Given the description of an element on the screen output the (x, y) to click on. 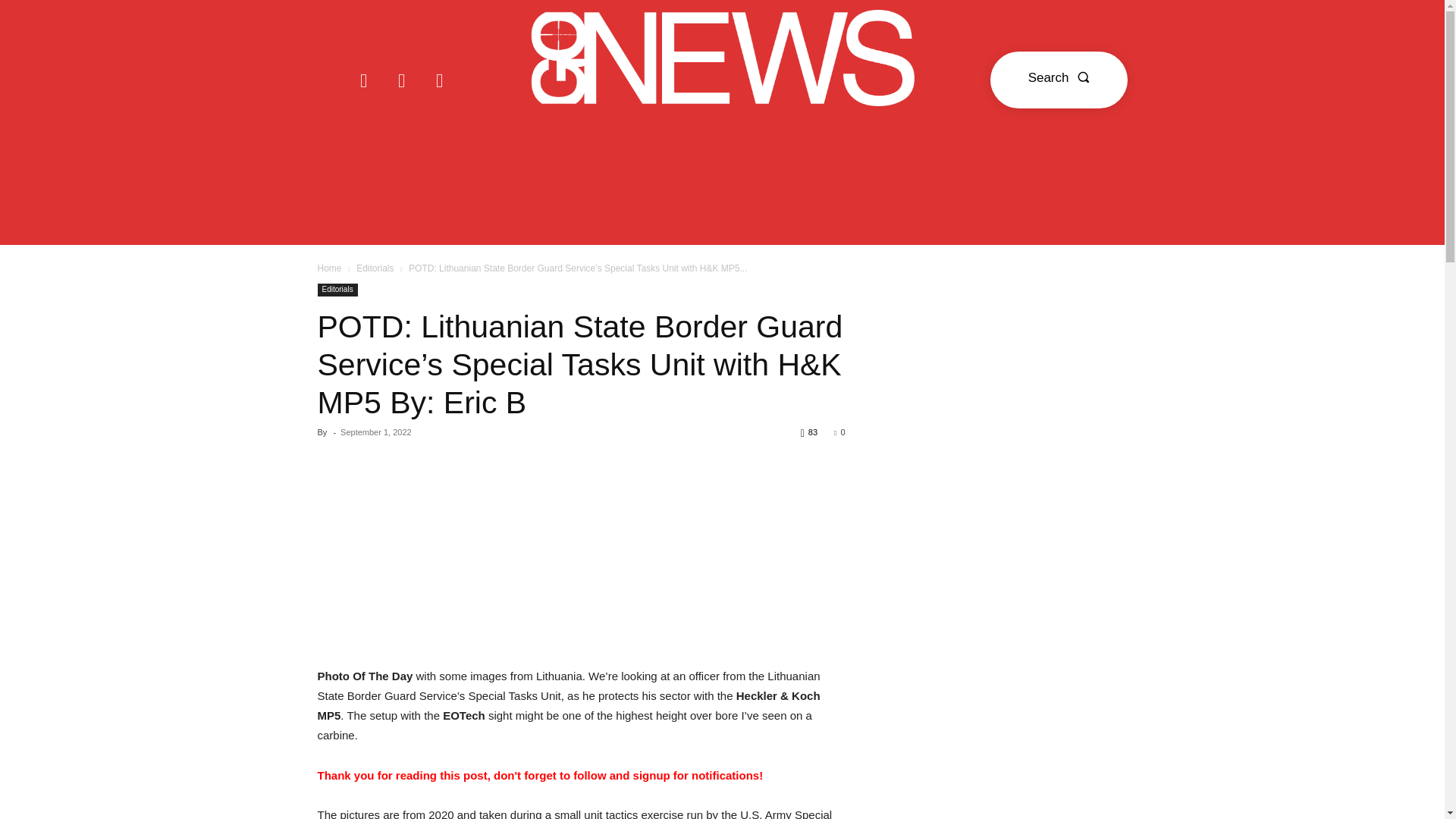
Twitter (439, 80)
Facebook (363, 80)
Search (1058, 79)
Instagram (401, 80)
Search (1058, 79)
